Given the description of an element on the screen output the (x, y) to click on. 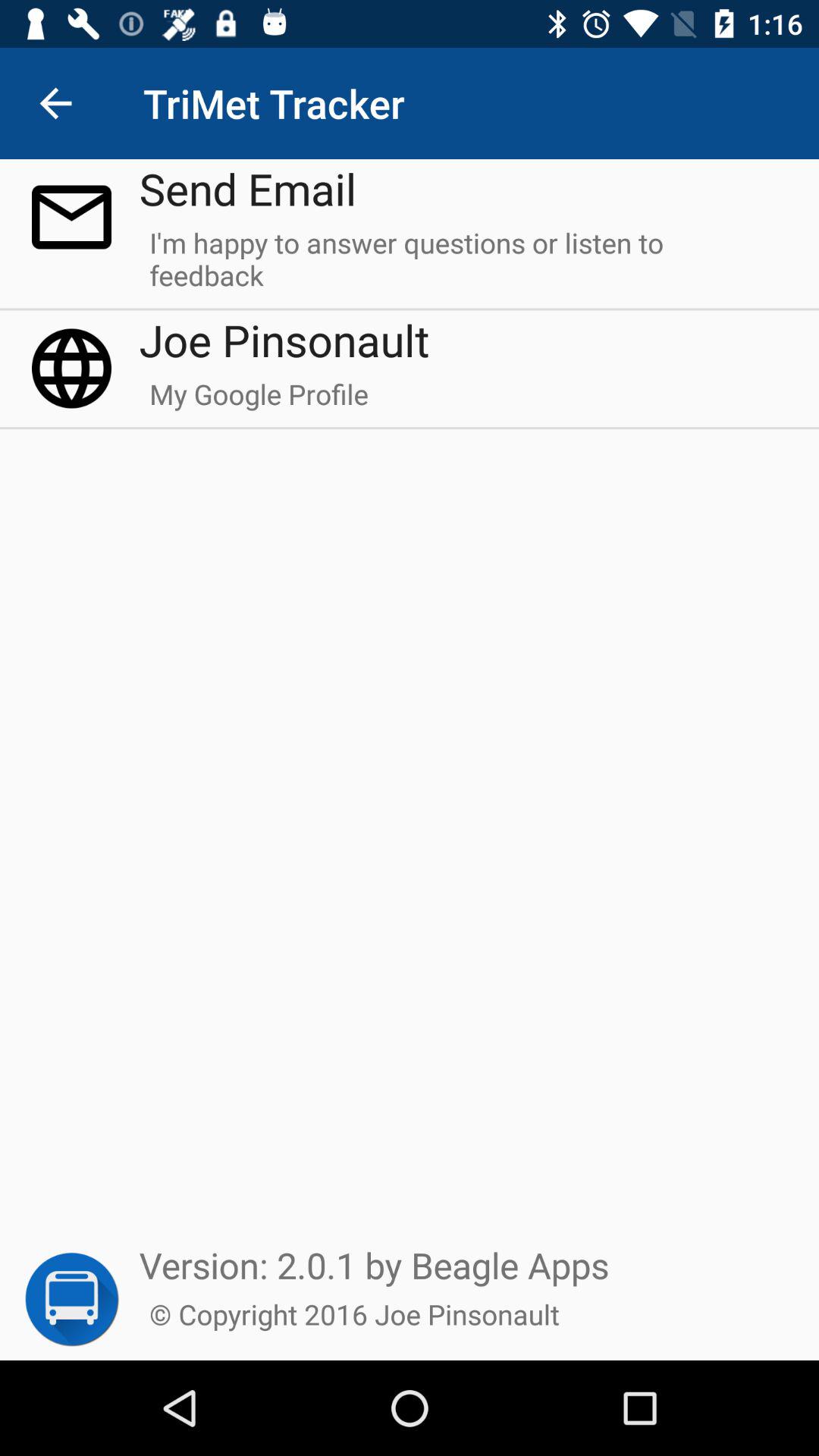
tap icon below joe pinsonault item (258, 401)
